Given the description of an element on the screen output the (x, y) to click on. 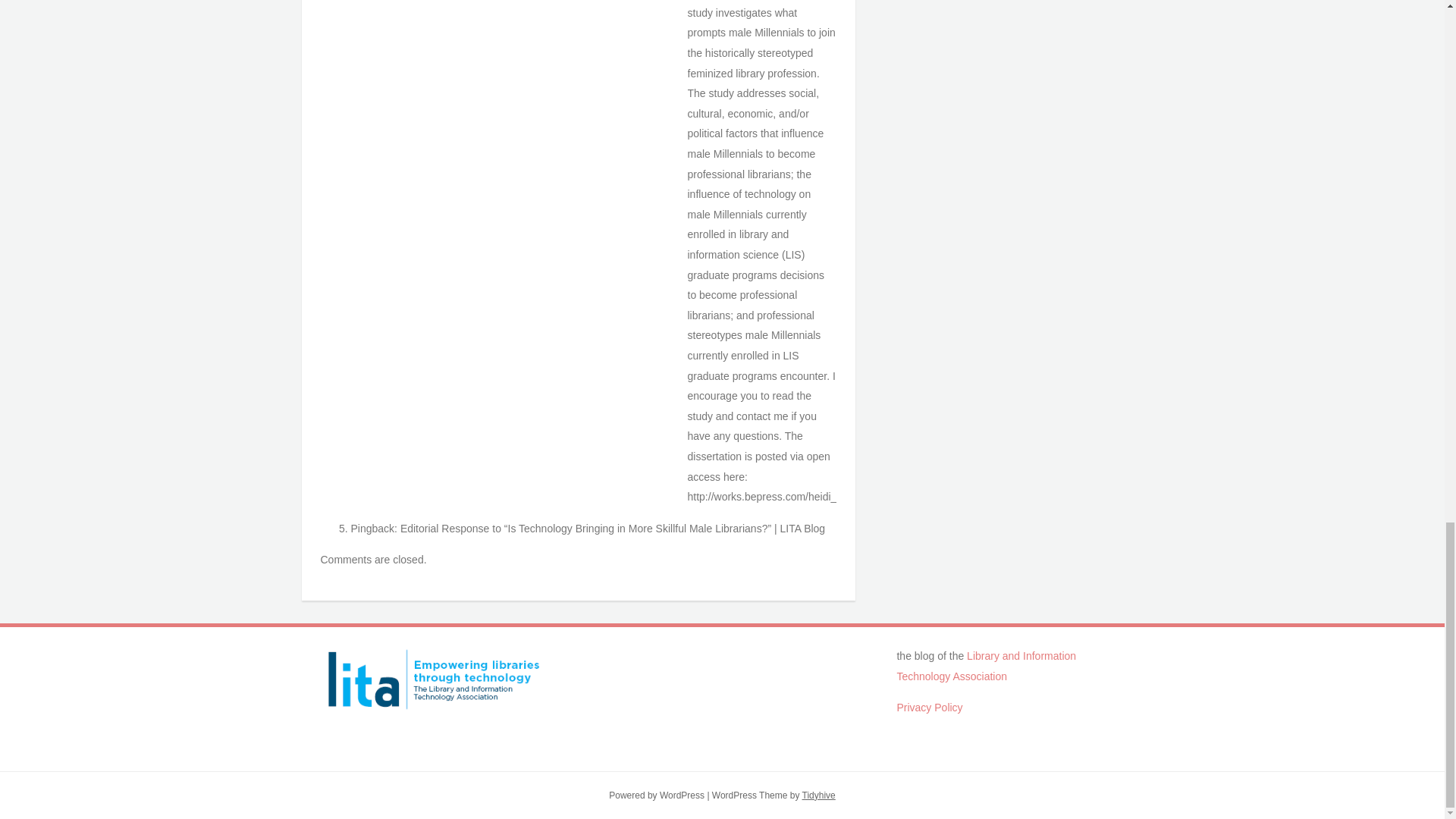
Library and Information Technology Association (985, 666)
Tidyhive (818, 795)
Privacy Policy (929, 707)
